Given the description of an element on the screen output the (x, y) to click on. 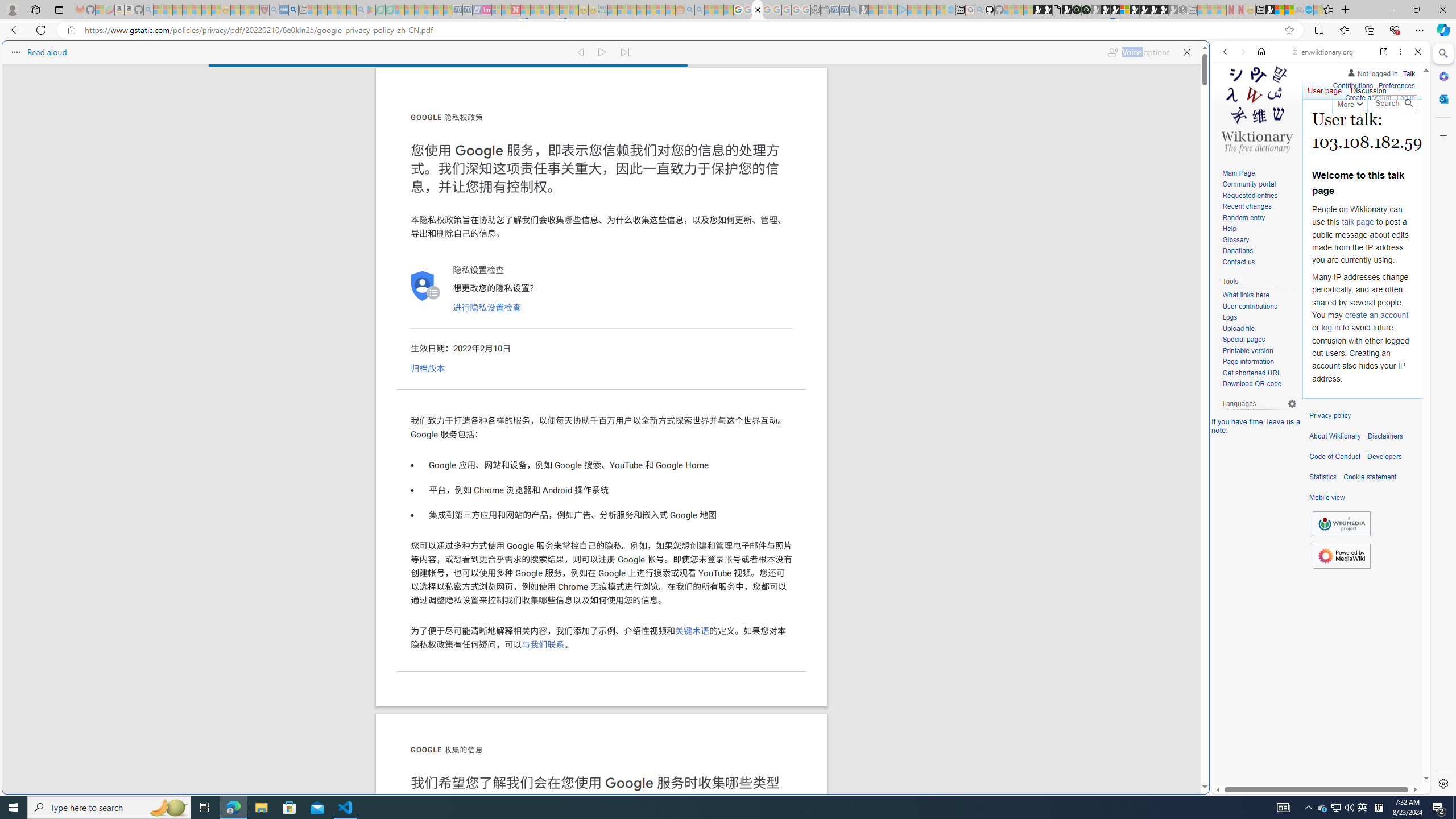
Contact us (1259, 262)
en.wiktionary.org (1323, 51)
Glossary (1235, 239)
Actions for this site (1370, 583)
Requested entries (1259, 196)
google - Search - Sleeping (360, 9)
create an account (1376, 314)
Mobile view (1326, 497)
